Given the description of an element on the screen output the (x, y) to click on. 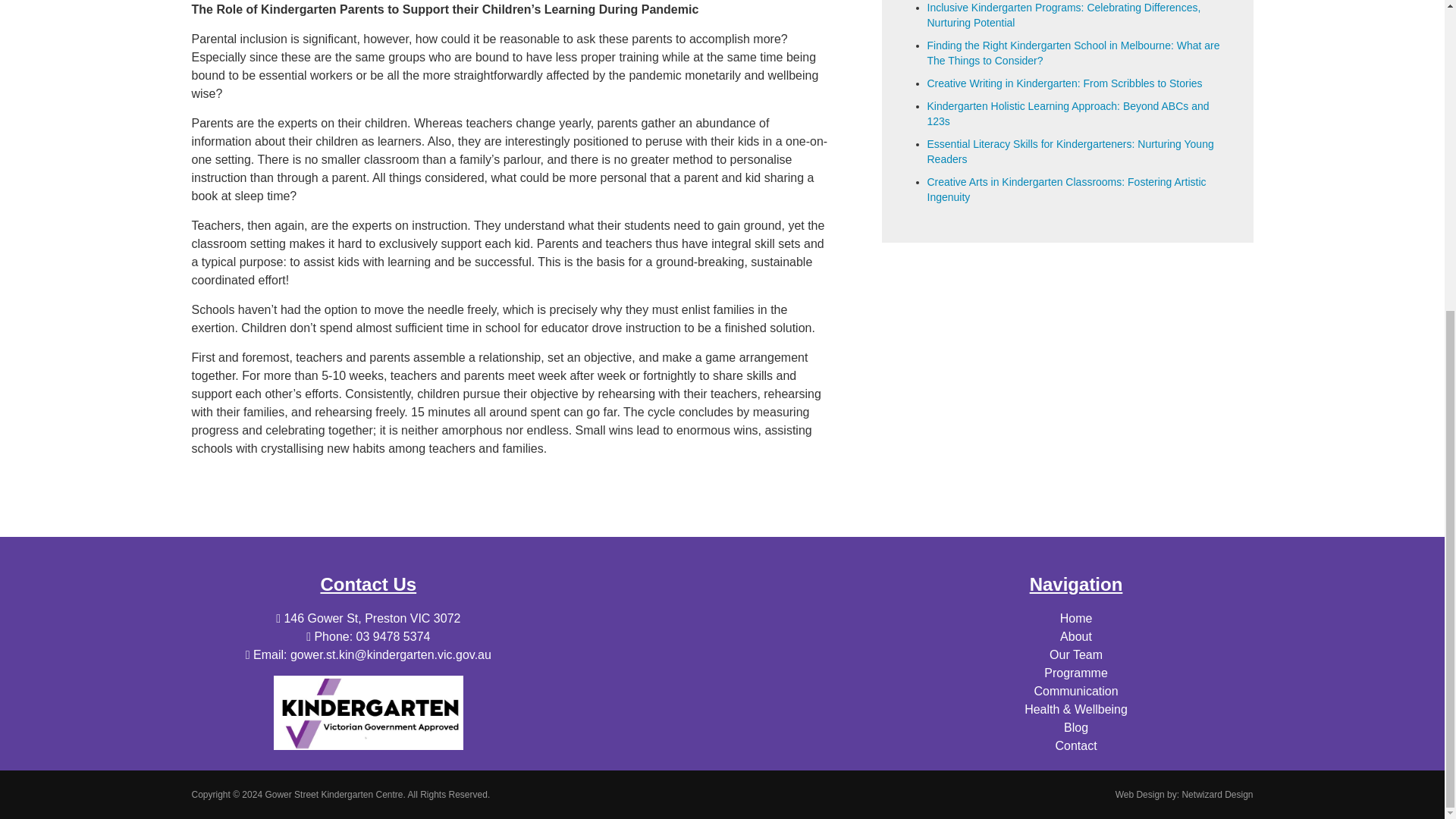
About (1075, 635)
Blog (1075, 727)
Communication (1075, 690)
Netwizard Design (1216, 794)
Home (1076, 617)
Our Team (1075, 654)
Creative Writing in Kindergarten: From Scribbles to Stories (1064, 82)
